Given the description of an element on the screen output the (x, y) to click on. 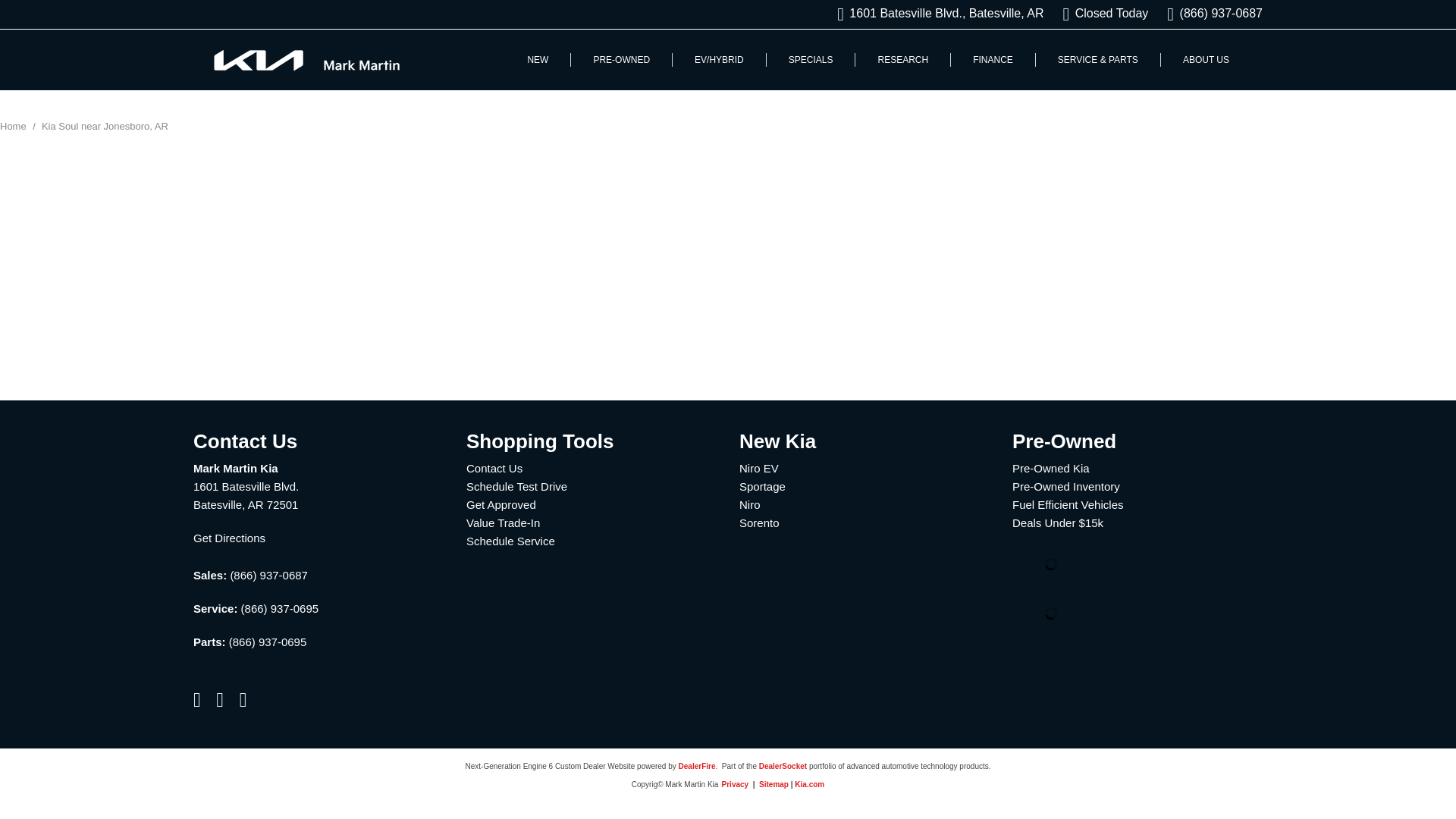
Closed Today (1105, 14)
Mark Martin Kia (306, 60)
PRE-OWNED (621, 59)
NEW (536, 59)
SPECIALS (810, 59)
RESEARCH (902, 59)
1601 Batesville Blvd., Batesville, AR (940, 14)
